Given the description of an element on the screen output the (x, y) to click on. 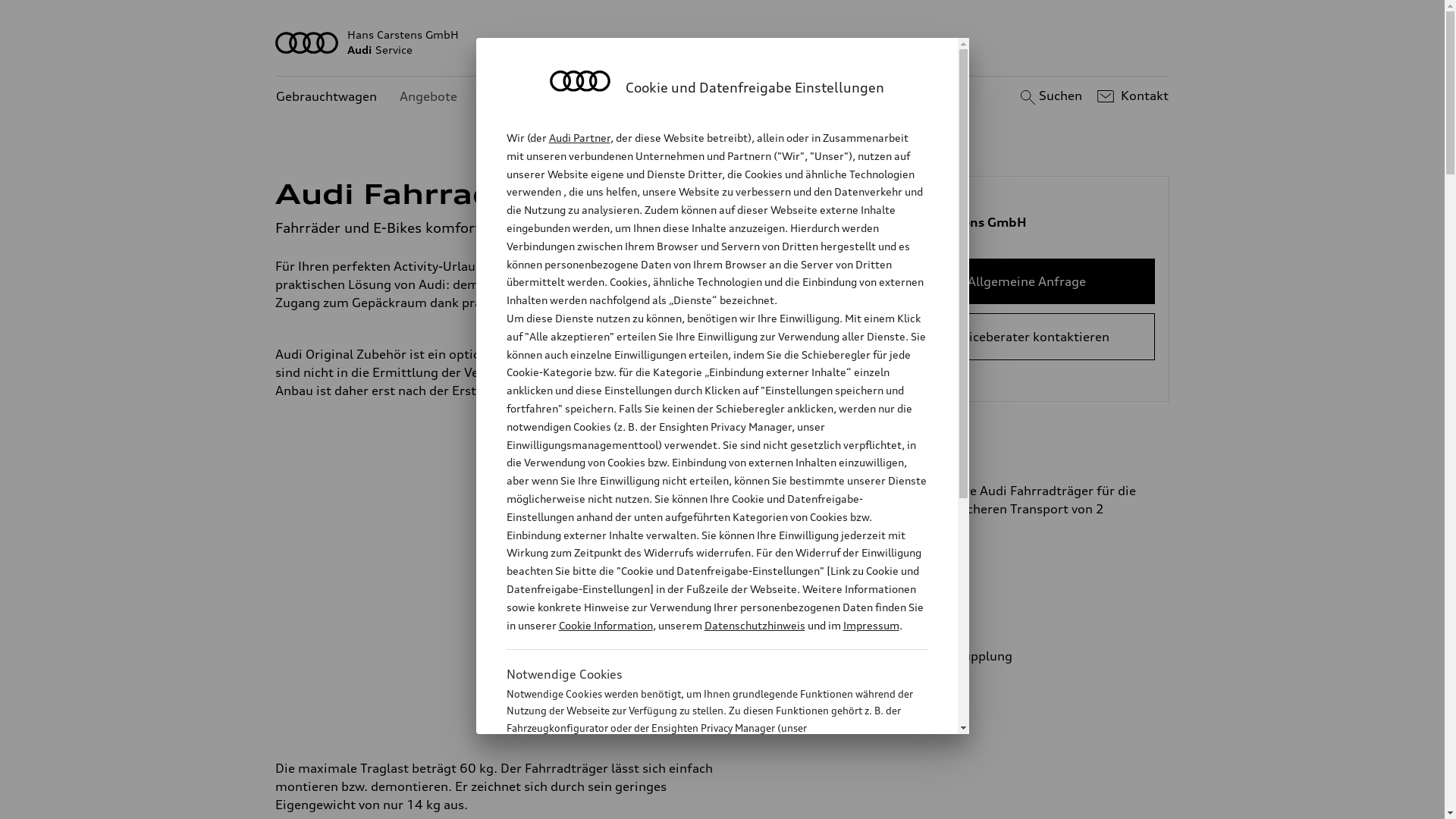
Kundenservice Element type: text (523, 96)
Audi Partner Element type: text (579, 137)
Allgemeine Anfrage Element type: text (1025, 281)
Serviceberater kontaktieren Element type: text (1025, 336)
Cookie Information Element type: text (605, 624)
Angebote Element type: text (428, 96)
Suchen Element type: text (1049, 96)
Datenschutzhinweis Element type: text (753, 624)
Cookie Information Element type: text (700, 802)
Kontakt Element type: text (1130, 96)
Gebrauchtwagen Element type: text (326, 96)
Impressum Element type: text (871, 624)
Hans Carstens GmbH
AudiService Element type: text (722, 42)
